Given the description of an element on the screen output the (x, y) to click on. 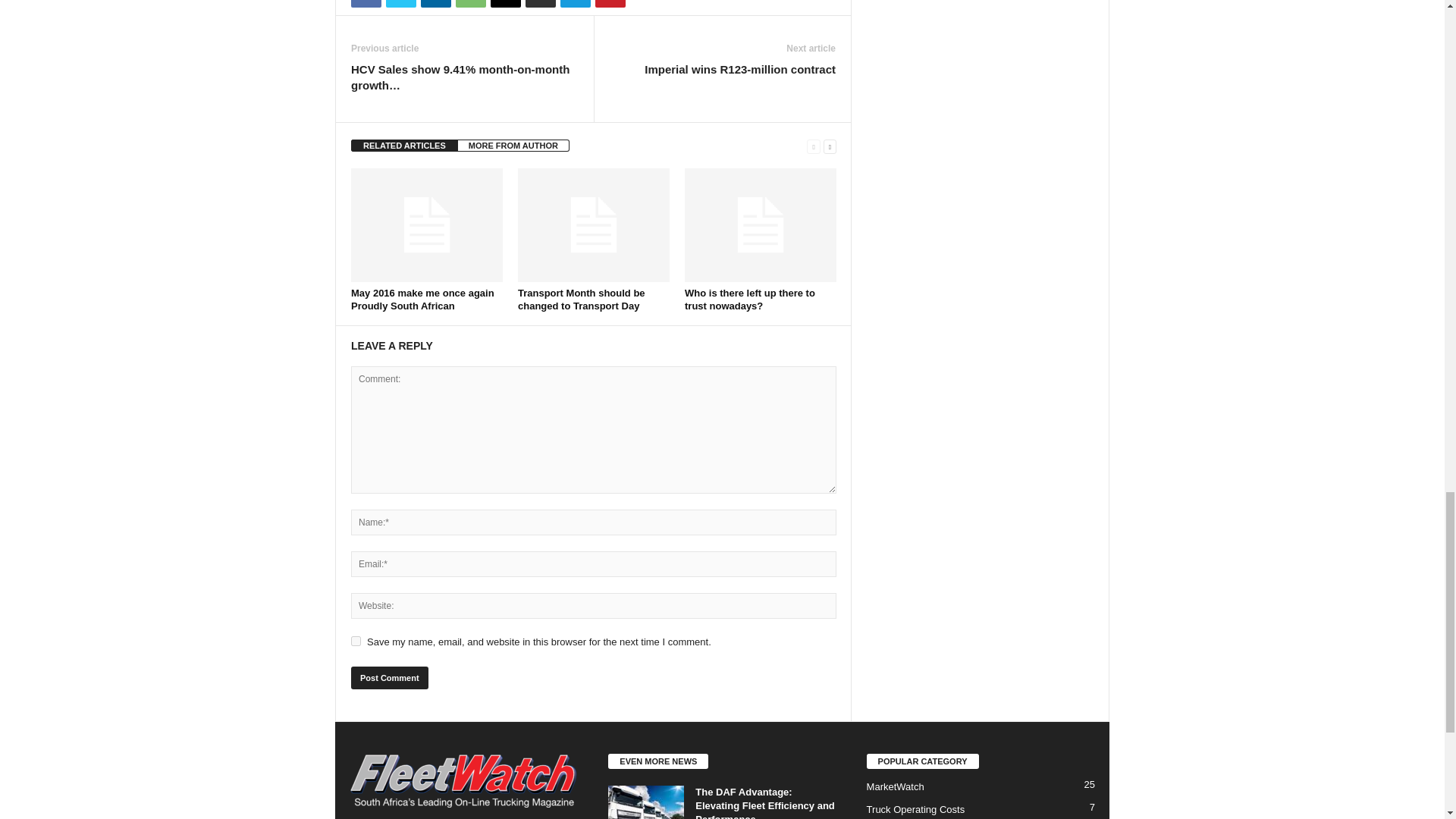
Post Comment (389, 677)
yes (355, 641)
